Given the description of an element on the screen output the (x, y) to click on. 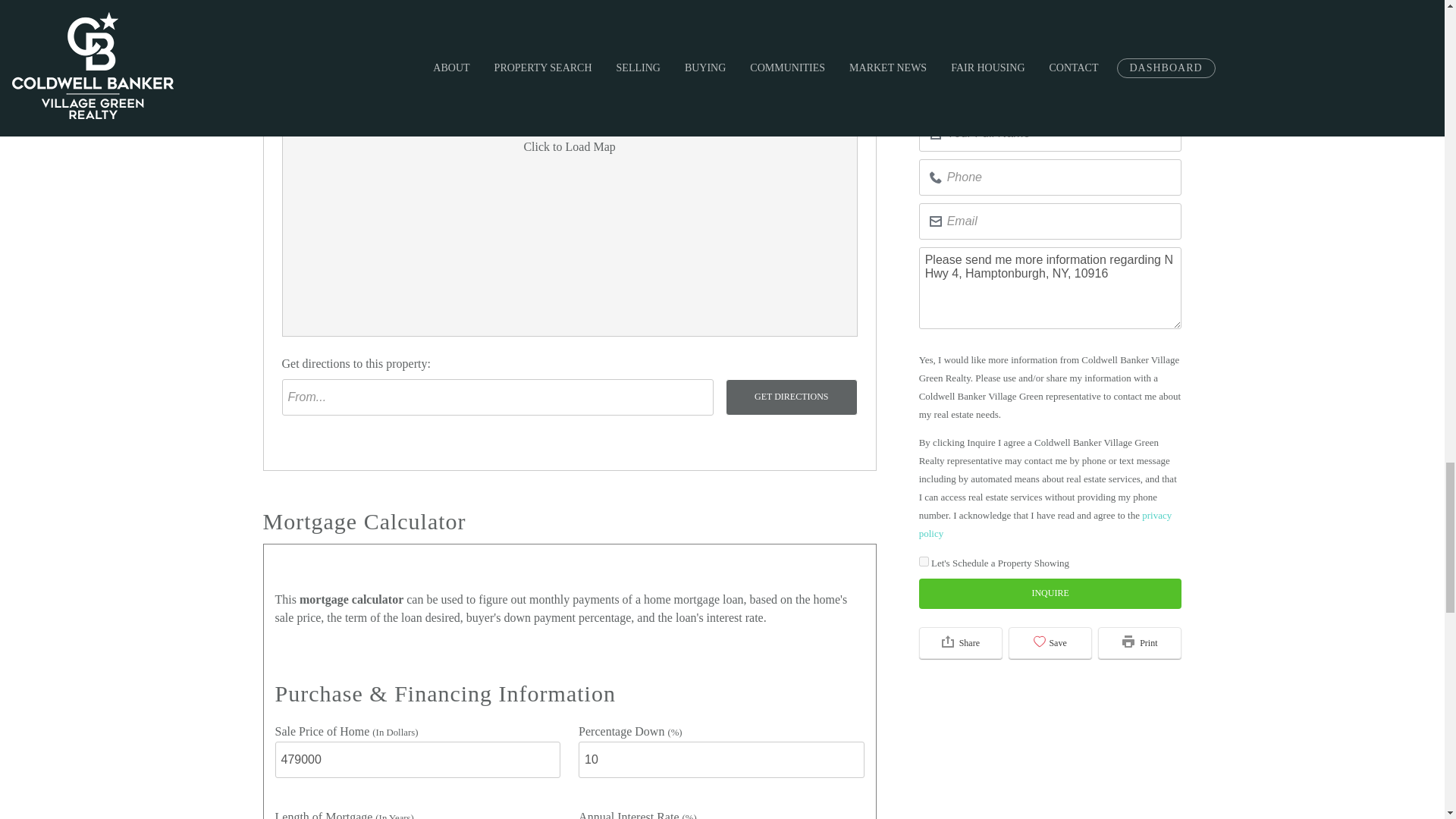
10 (721, 760)
479000 (417, 760)
